Given the description of an element on the screen output the (x, y) to click on. 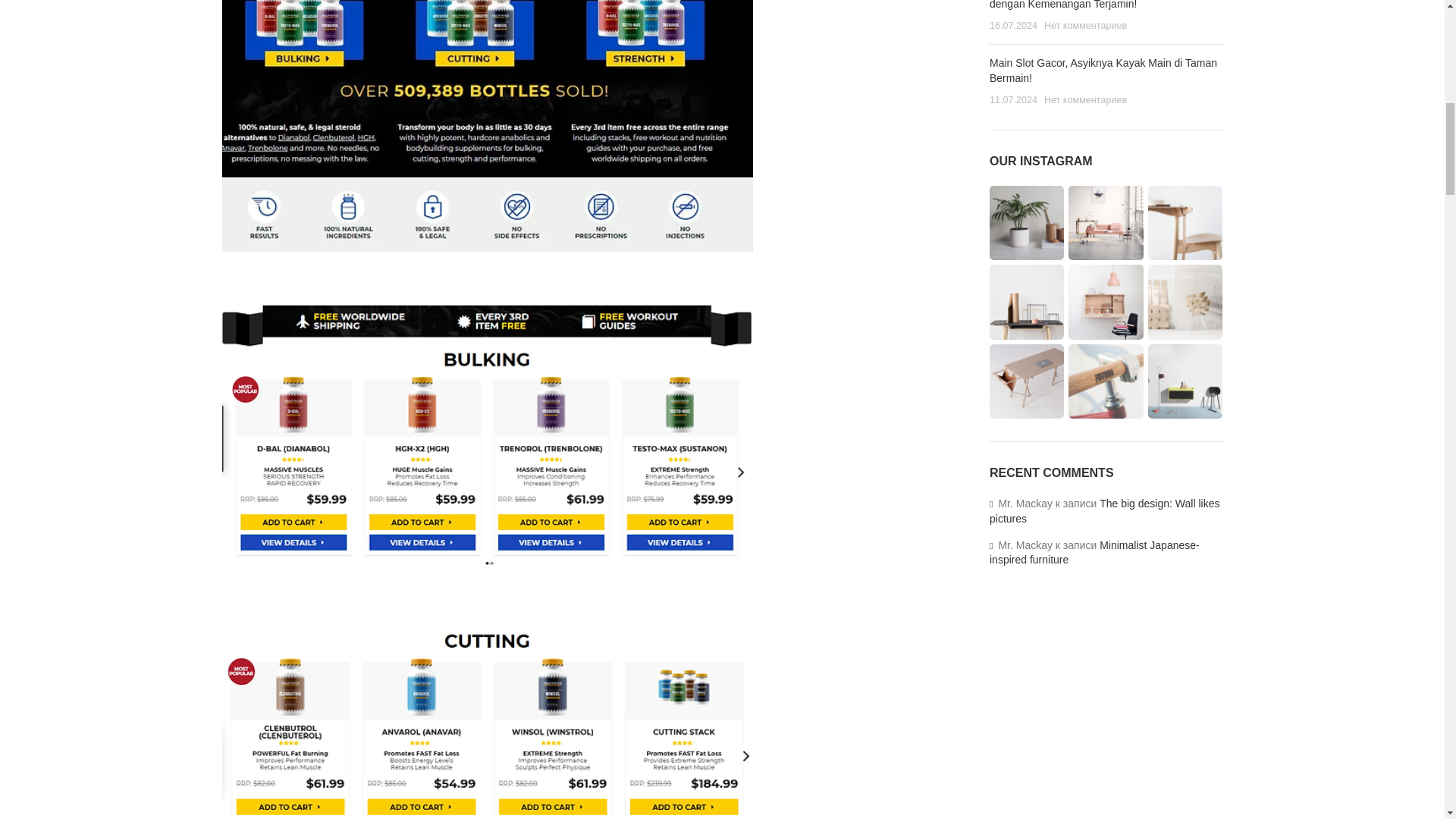
steroids bulking tablets (486, 719)
